Given the description of an element on the screen output the (x, y) to click on. 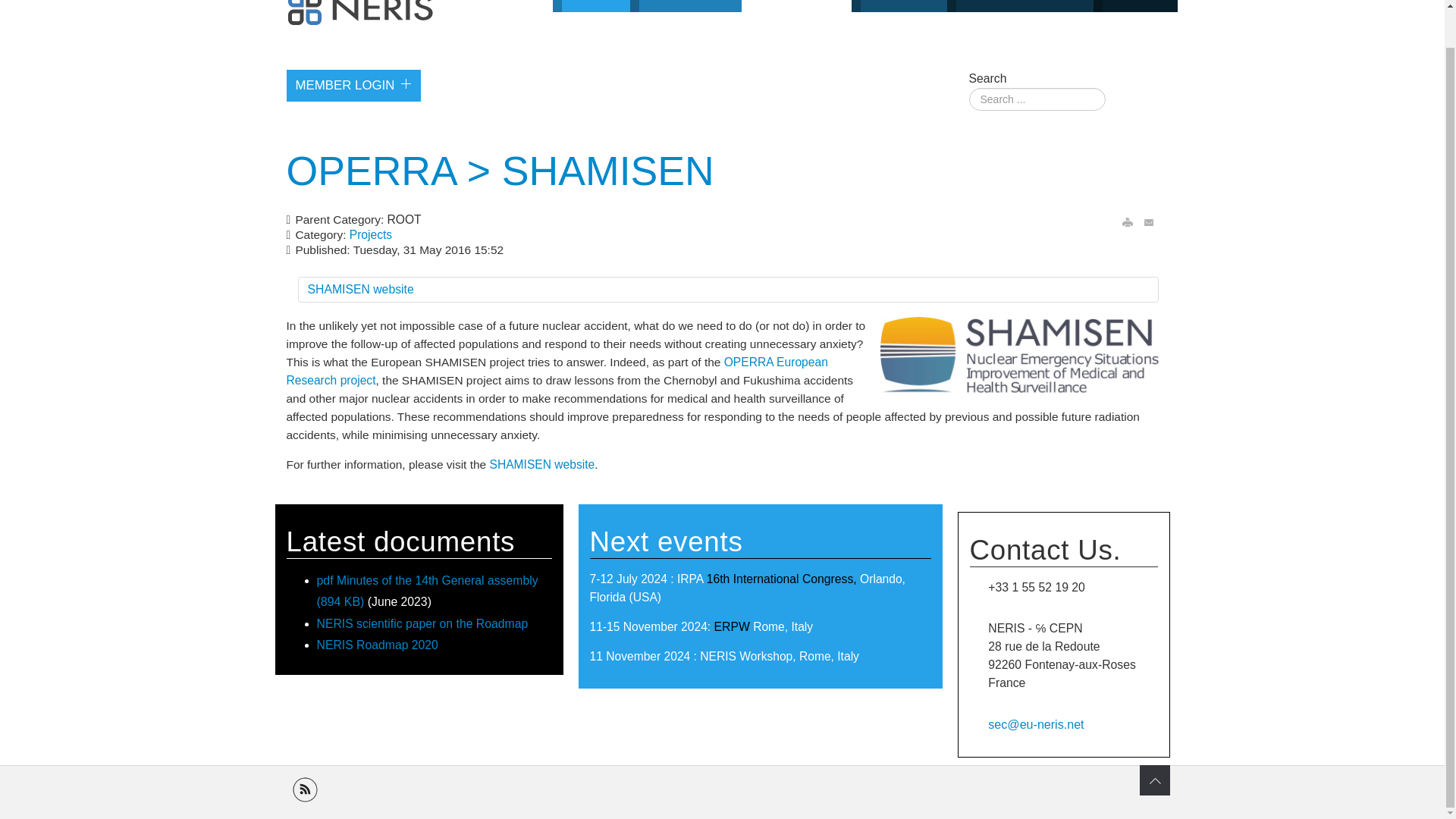
NERIS scientific paper on the Roadmap (422, 623)
HOME (591, 6)
SHAMISEN website (541, 463)
LIBRARY (899, 6)
COOPERATIONS (1020, 6)
ERPW (731, 626)
OPERRA European Research project (557, 370)
Email this link to a friend (1149, 221)
ABOUT (1135, 6)
NERIS Roadmap 2020 (377, 644)
